Given the description of an element on the screen output the (x, y) to click on. 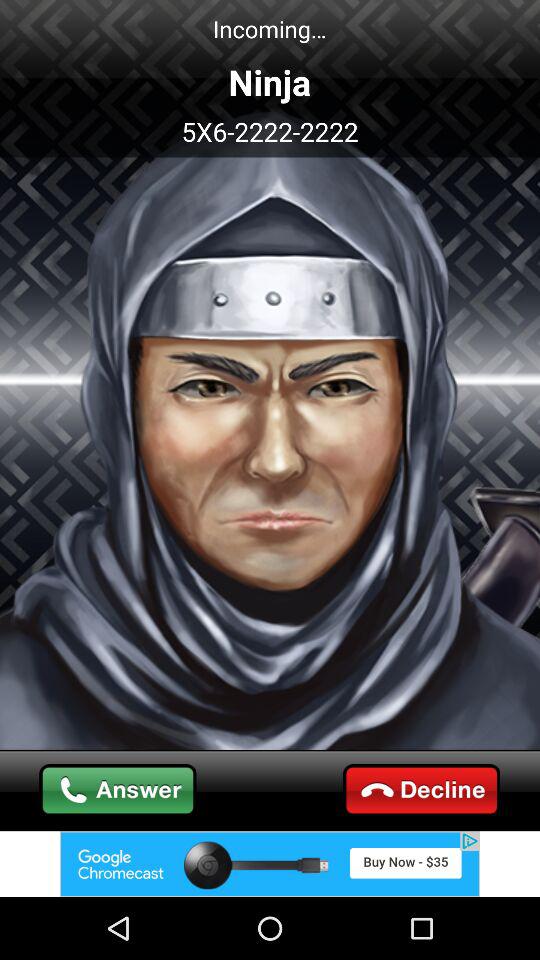
answer phone call (117, 790)
